Given the description of an element on the screen output the (x, y) to click on. 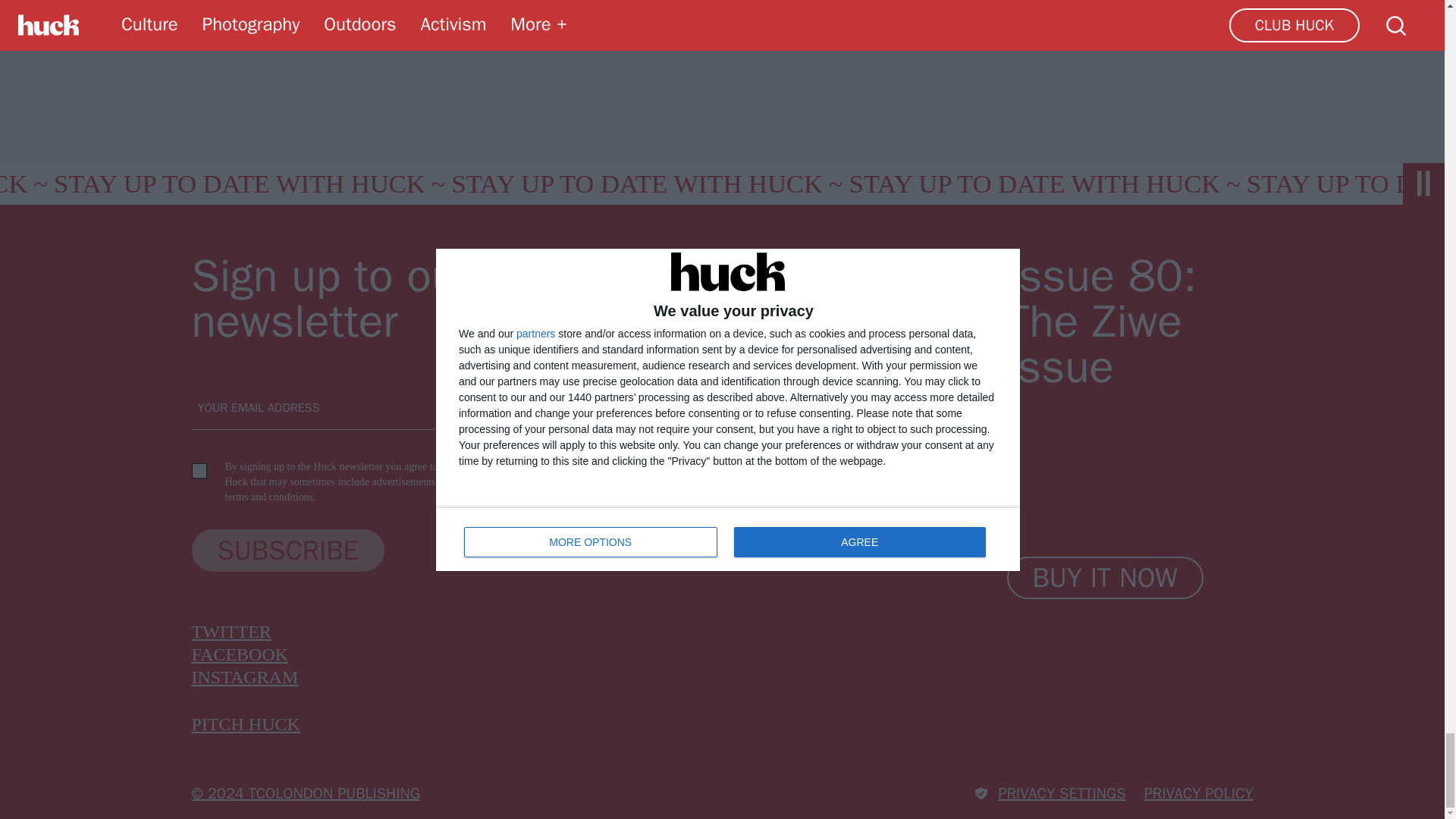
SUBSCRIBE (287, 550)
TWITTER (230, 631)
AFGHANISTAN (353, 14)
BIKE (231, 14)
SHANNON GALPIN (866, 14)
LINES THROUGH THE CITY (661, 14)
INSTAGRAM (244, 677)
FACEBOOK (239, 654)
... (992, 14)
BUY IT NOW (1105, 577)
CYCLING (485, 14)
PITCH HUCK (244, 723)
on (198, 470)
